Given the description of an element on the screen output the (x, y) to click on. 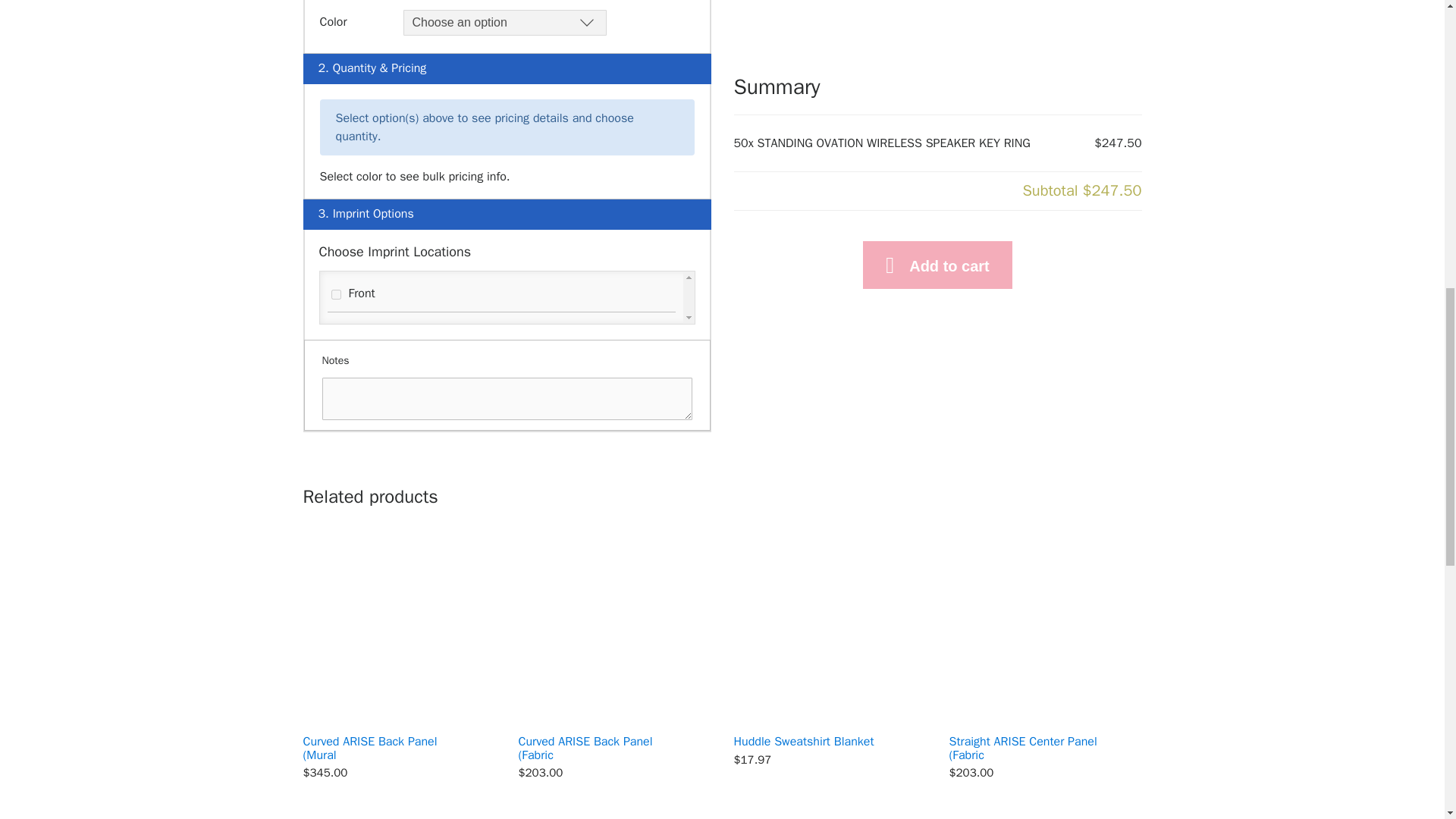
0 (335, 294)
